Given the description of an element on the screen output the (x, y) to click on. 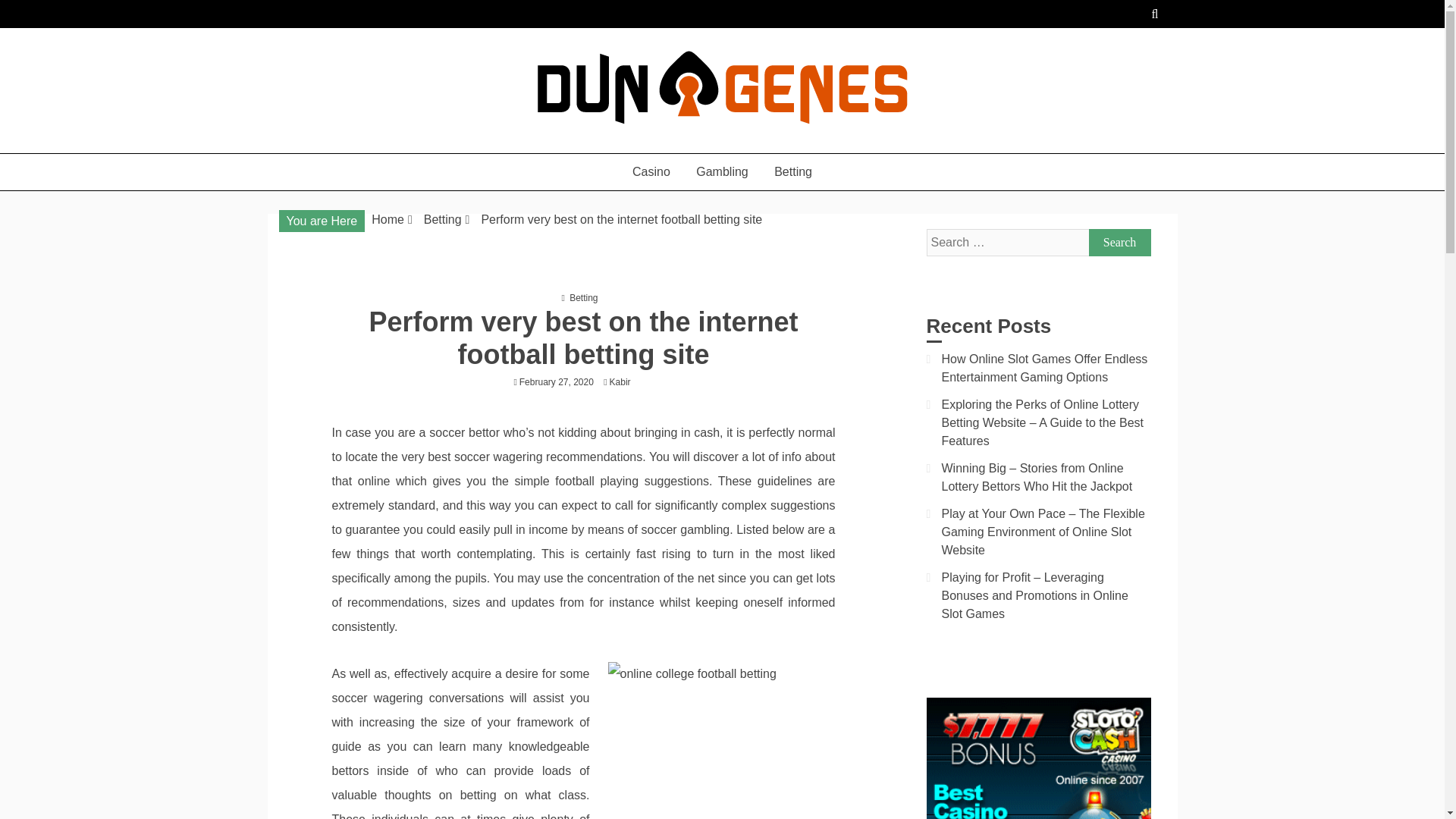
Betting (442, 219)
Search (1120, 242)
Kabir (624, 381)
Casino (651, 171)
Perform very best on the internet football betting site (620, 219)
February 27, 2020 (556, 381)
Betting (793, 171)
Search (1120, 242)
Casino play free online (412, 146)
